Given the description of an element on the screen output the (x, y) to click on. 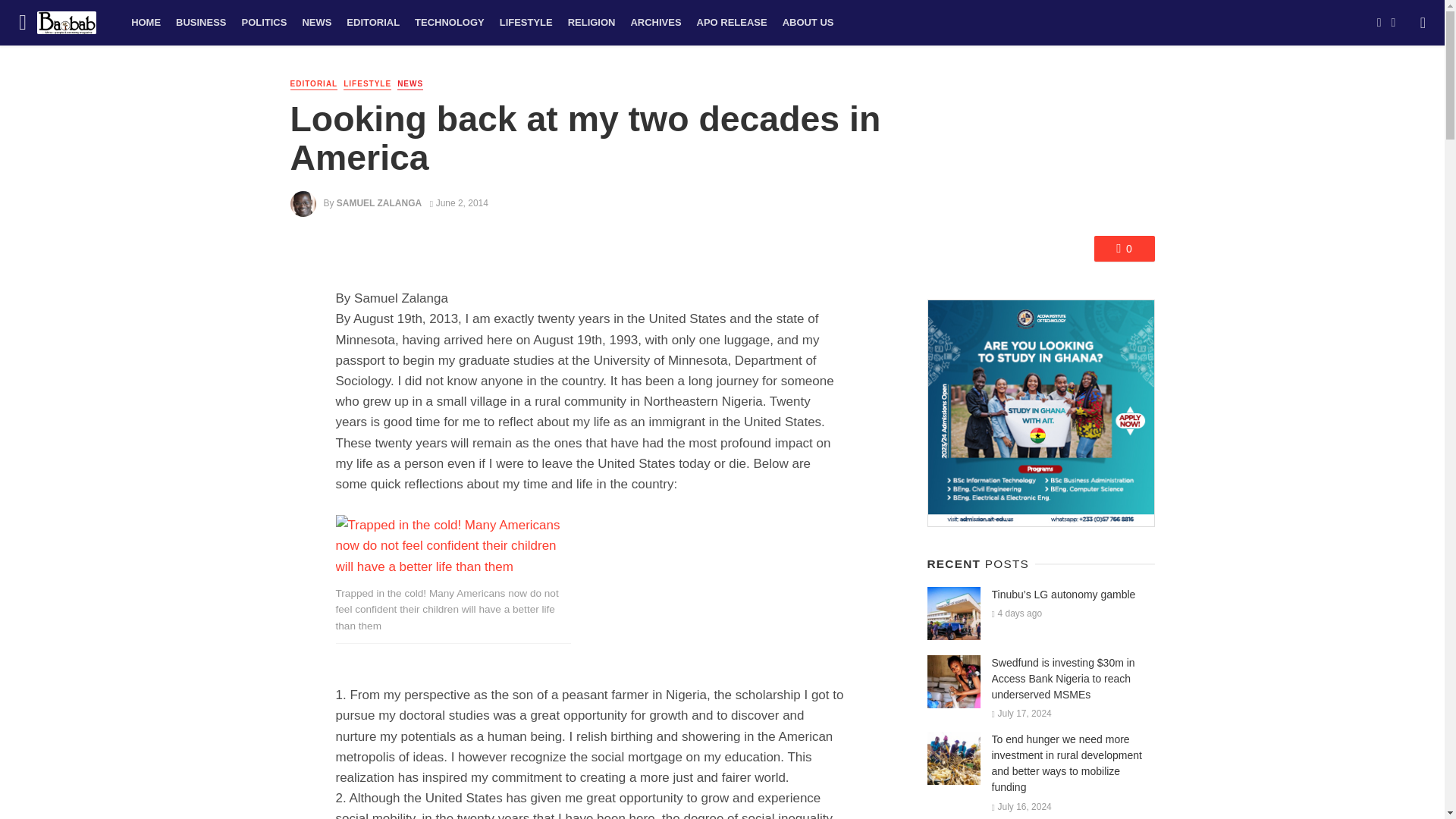
RELIGION (591, 22)
July 21, 2024 at 11:57 am (1016, 613)
APO RELEASE (731, 22)
ARCHIVES (655, 22)
SAMUEL ZALANGA (379, 203)
HOME (145, 22)
Posts by Samuel Zalanga (379, 203)
LIFESTYLE (367, 84)
0 (1123, 248)
July 16, 2024 at 6:43 am (1021, 806)
NEWS (410, 84)
BUSINESS (200, 22)
July 17, 2024 at 8:27 am (1021, 713)
June 2, 2014 at 12:56 pm (458, 203)
TECHNOLOGY (449, 22)
